Given the description of an element on the screen output the (x, y) to click on. 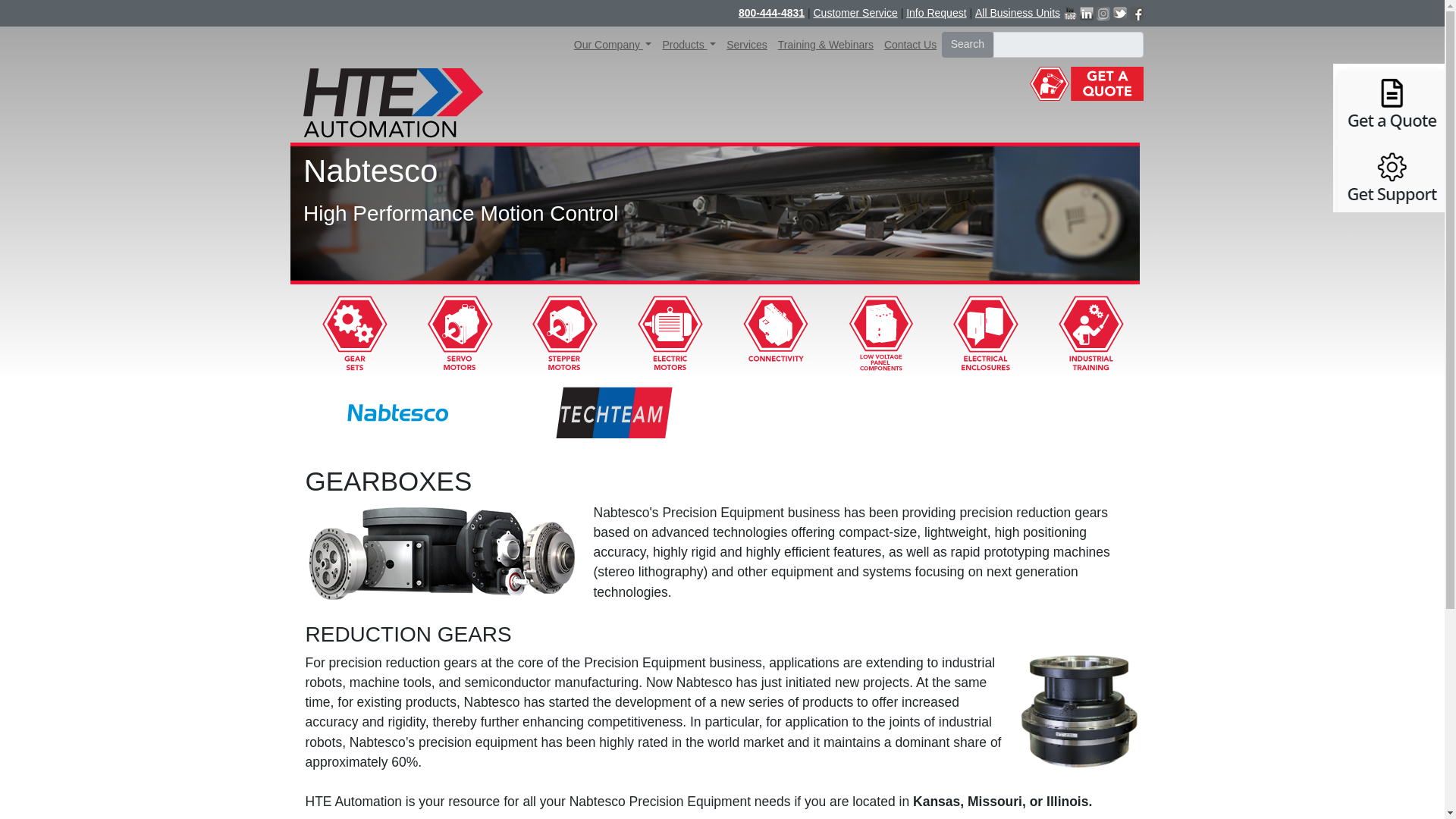
Services (746, 44)
Precision Cycloidal Gearboxes (398, 411)
Value Added Engineering (613, 411)
Electric Motors (669, 332)
Customer Service (854, 12)
Search (967, 44)
All Business Units (1017, 12)
Controls Connectivity (774, 332)
Electrical Enclosures (984, 332)
Info Request (935, 12)
